Given the description of an element on the screen output the (x, y) to click on. 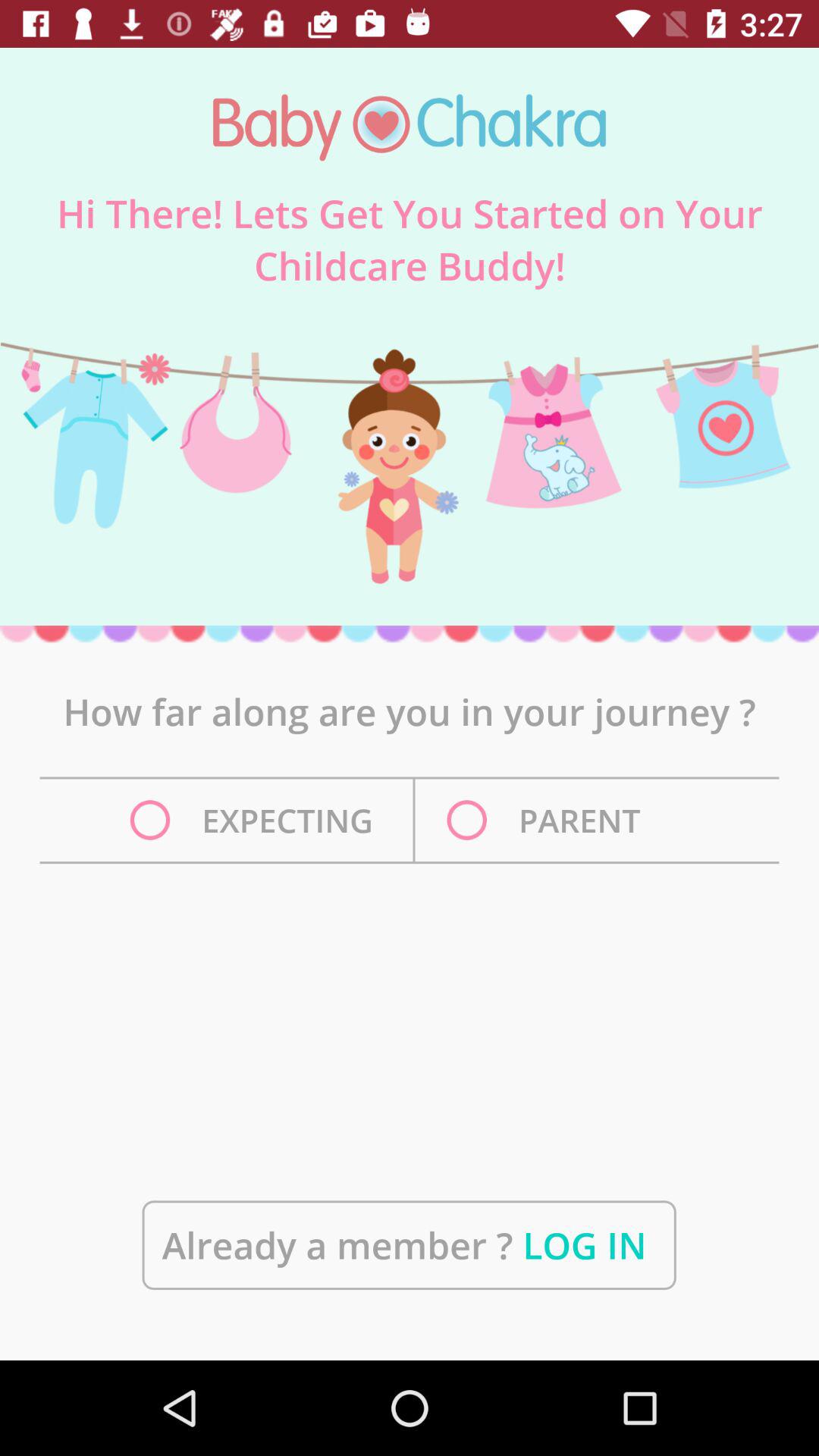
choose icon on the right (547, 820)
